Given the description of an element on the screen output the (x, y) to click on. 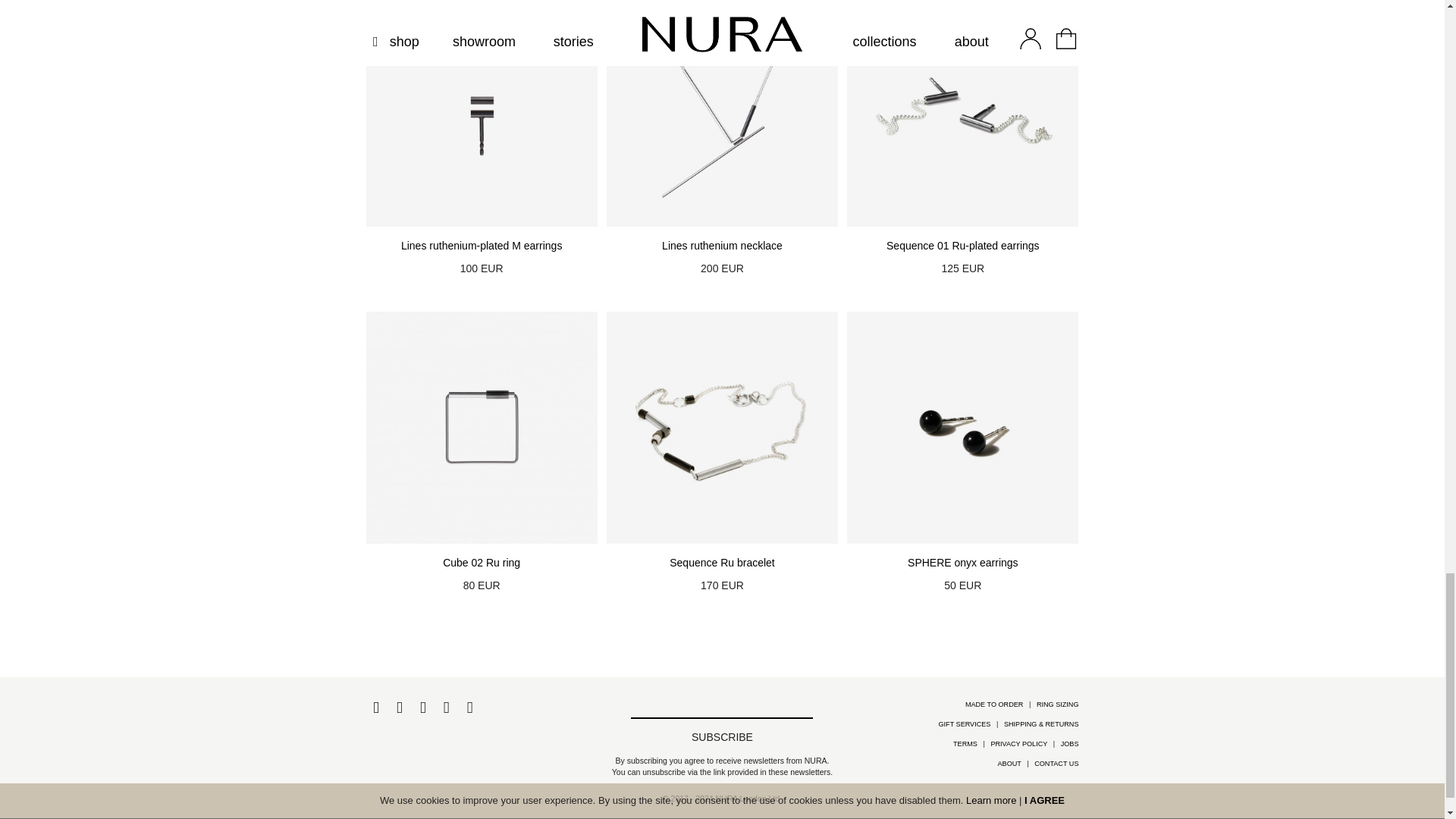
SUBSCRIBE (721, 736)
Lines ruthenium-plated M earrings (480, 245)
Lines ruthenium necklace (722, 245)
